Given the description of an element on the screen output the (x, y) to click on. 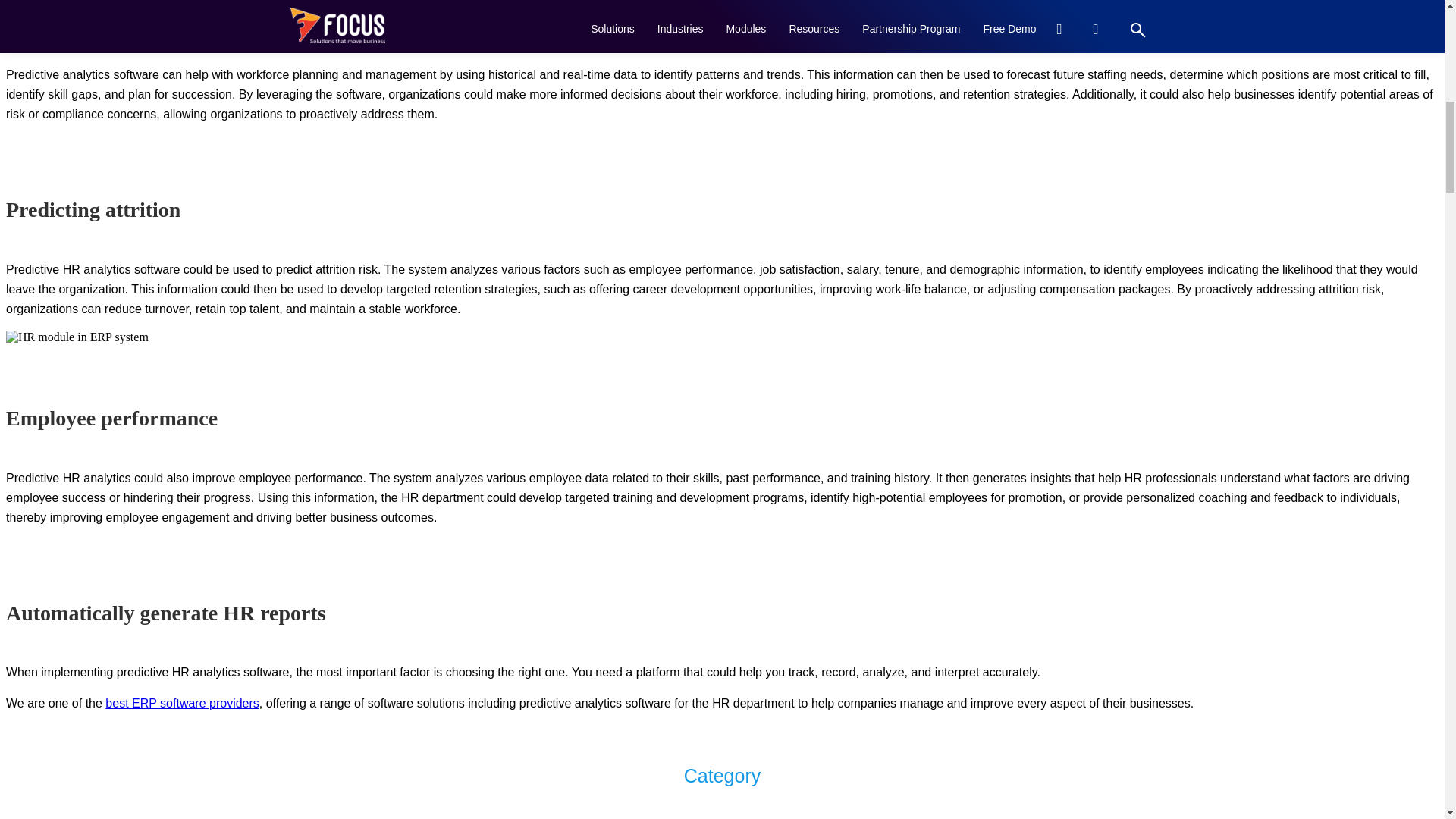
HR module   (76, 336)
